Given the description of an element on the screen output the (x, y) to click on. 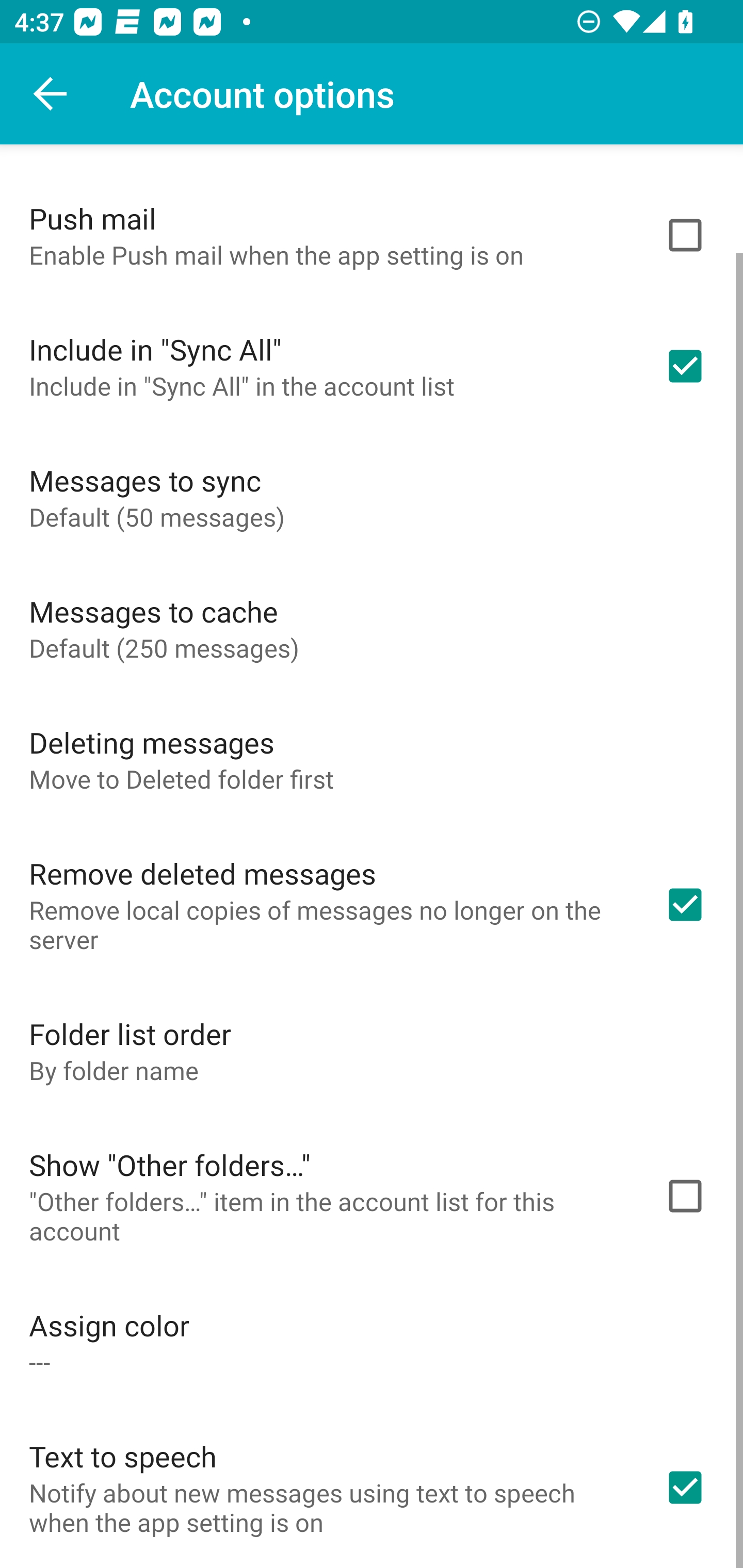
Navigate up (50, 93)
Messages to sync Default (50 messages) (371, 496)
Messages to cache Default (250 messages) (371, 627)
Deleting messages Move to Deleted folder first (371, 758)
Folder list order By folder name (371, 1050)
Assign color --- (371, 1342)
